Given the description of an element on the screen output the (x, y) to click on. 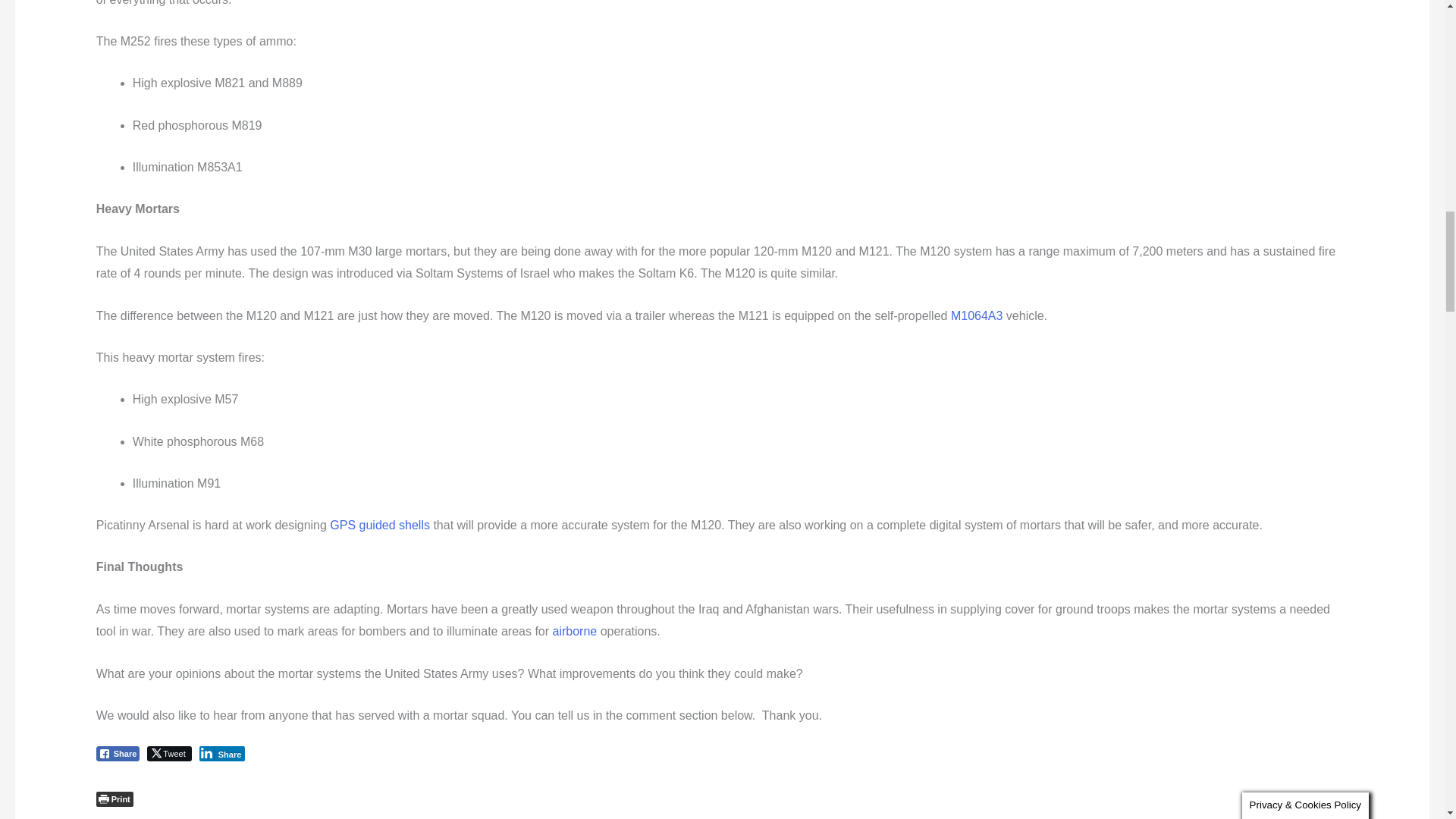
Tweet (168, 753)
Share (117, 753)
Airborne (573, 631)
airborne (573, 631)
GPS guided shells (379, 524)
Share (222, 753)
M1064A3 (976, 315)
Print (114, 798)
